Given the description of an element on the screen output the (x, y) to click on. 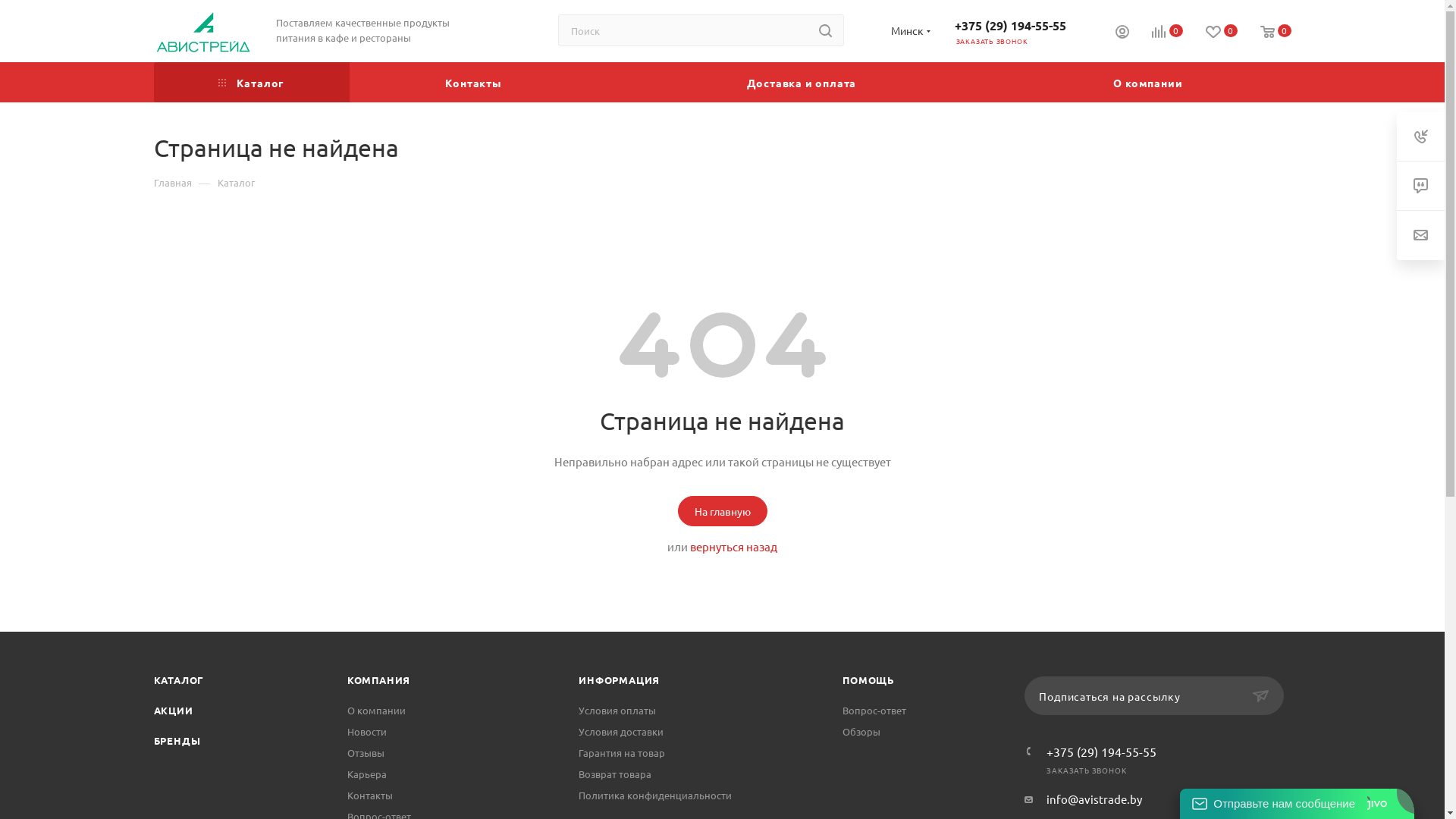
+375 (29) 194-55-55 Element type: text (1101, 751)
+375 (29) 194-55-55 Element type: text (1009, 24)
0 Element type: text (1264, 32)
0 Element type: text (1155, 29)
0 Element type: text (1210, 29)
info@avistrade.by Element type: text (1094, 798)
